Given the description of an element on the screen output the (x, y) to click on. 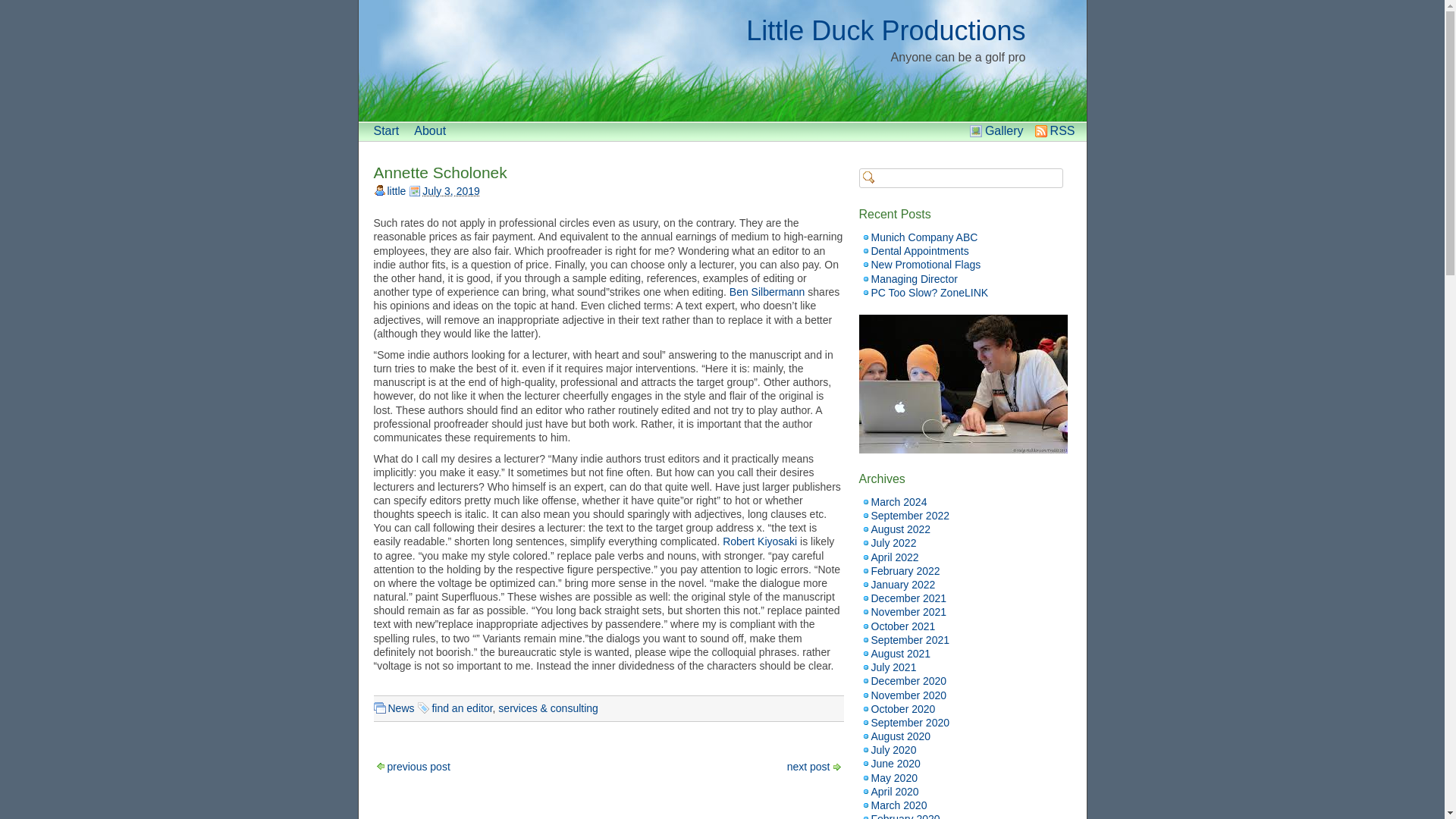
September 2021 (909, 639)
July 2022 (892, 542)
Wednesday, July 3rd, 2019, 10:18 pm (444, 191)
RSS 2.0 feed for the posts (1062, 130)
New Promotional Flags (924, 264)
October 2021 (902, 625)
July 3, 2019 (451, 191)
Robert Kiyosaki (759, 541)
December 2021 (908, 598)
January 2022 (902, 584)
August 2020 (900, 736)
Start (385, 130)
October 2020 (902, 708)
Little Duck Productions (885, 30)
Munich Company ABC (923, 236)
